Given the description of an element on the screen output the (x, y) to click on. 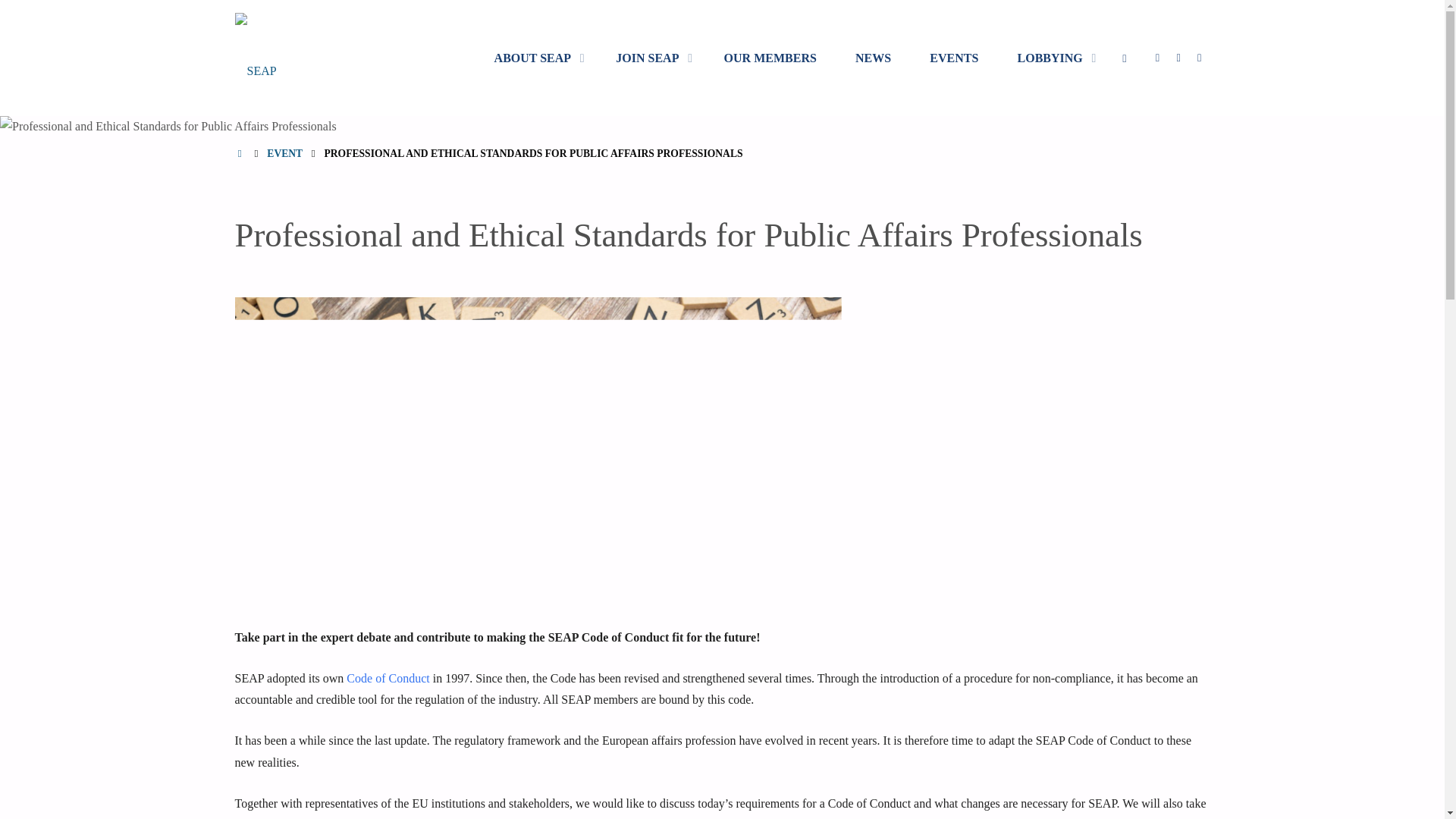
Home (241, 153)
ABOUT SEAP (535, 58)
Society of European Affairs Professionnals (307, 14)
SEAP (307, 14)
LOBBYING (1052, 58)
OUR MEMBERS (769, 58)
SEAP (255, 57)
JOIN SEAP (650, 58)
